Given the description of an element on the screen output the (x, y) to click on. 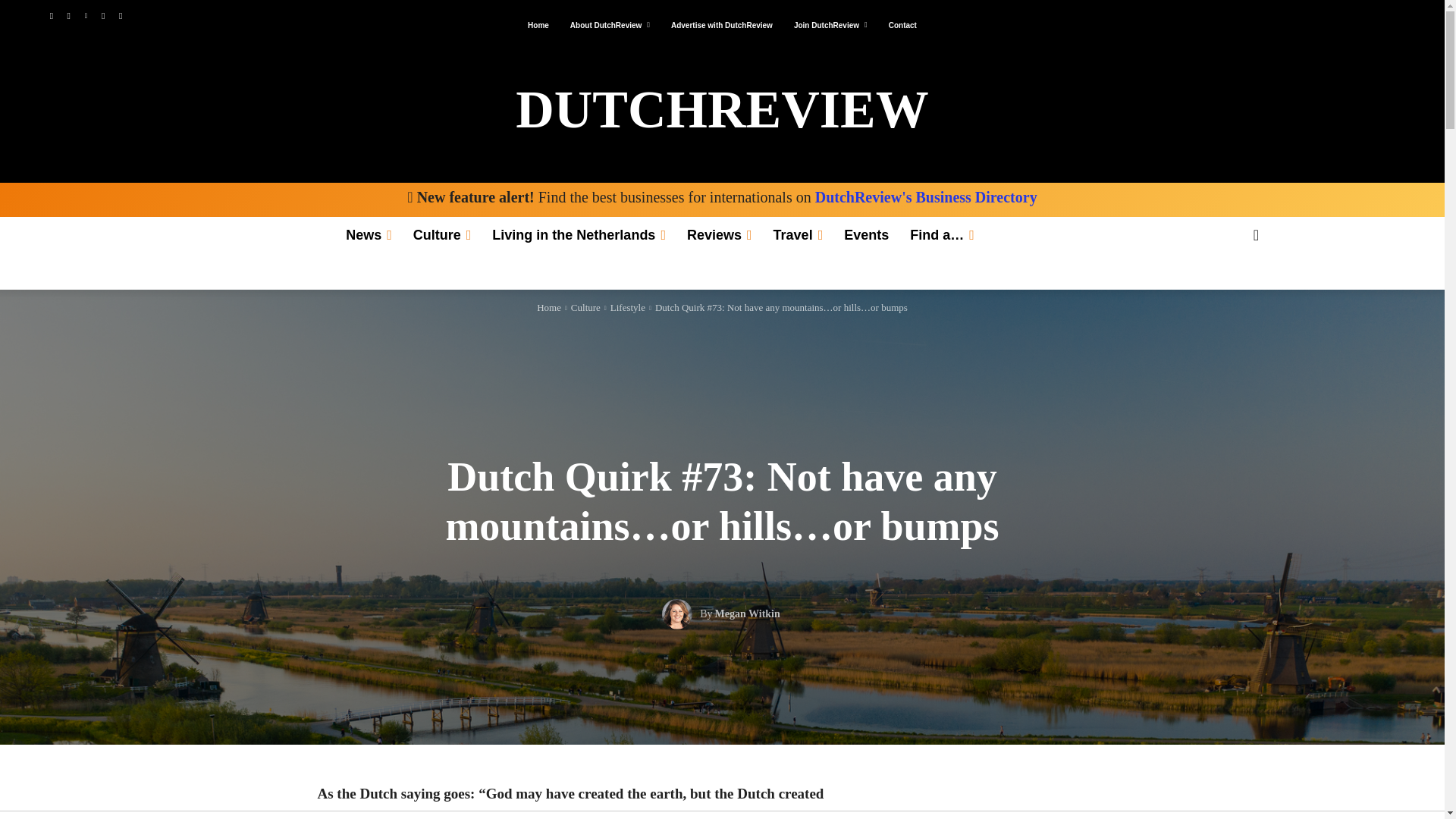
Facebook (50, 16)
View all posts in Culture (584, 307)
Megan Witkin (681, 613)
Youtube (120, 16)
Twitter (103, 16)
Linkedin (85, 16)
View all posts in Lifestyle (627, 307)
Instagram (68, 16)
